Given the description of an element on the screen output the (x, y) to click on. 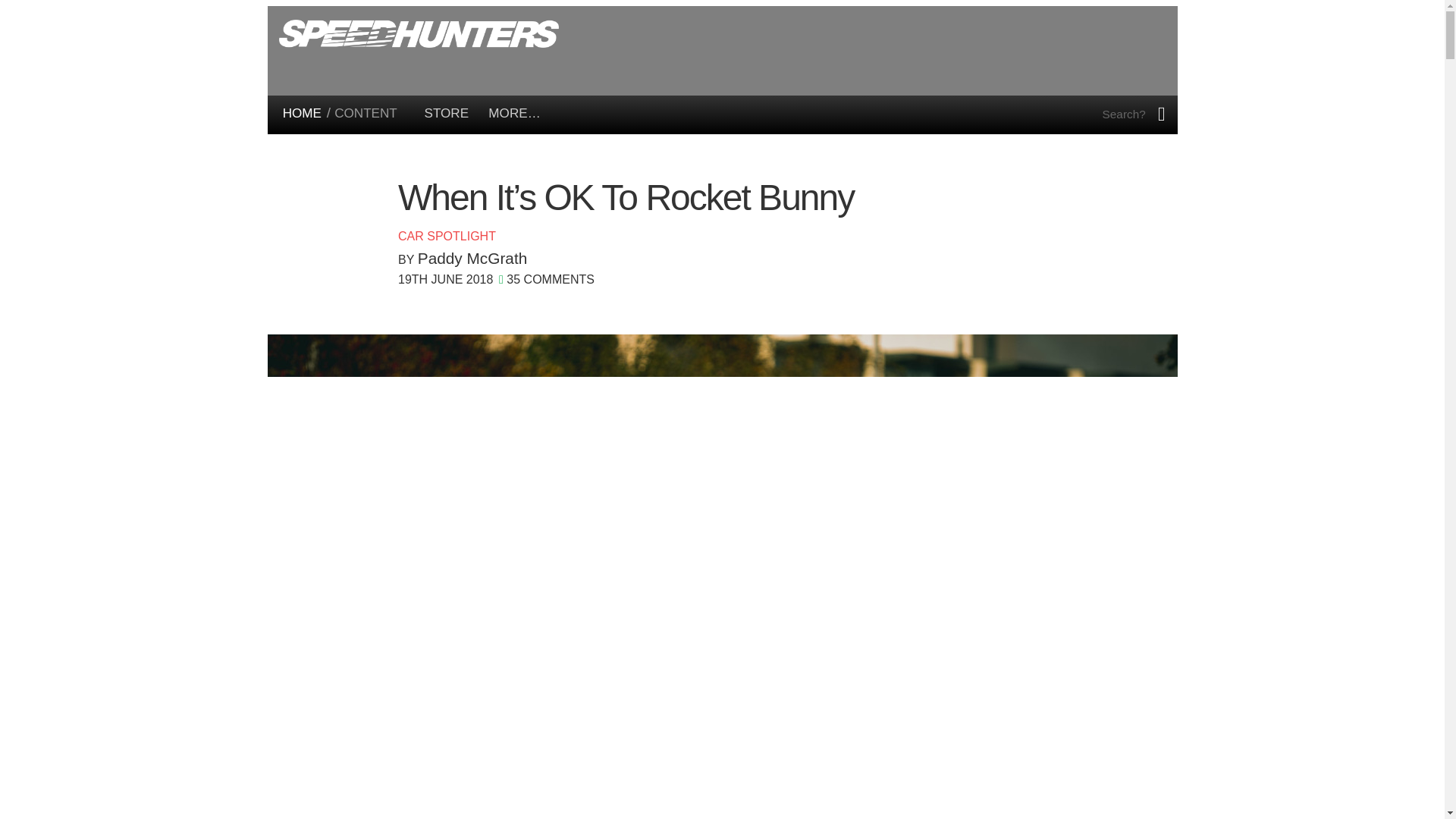
CONTENT (365, 113)
HOME (301, 113)
Posts by Paddy McGrath (472, 257)
STORE (446, 113)
